Given the description of an element on the screen output the (x, y) to click on. 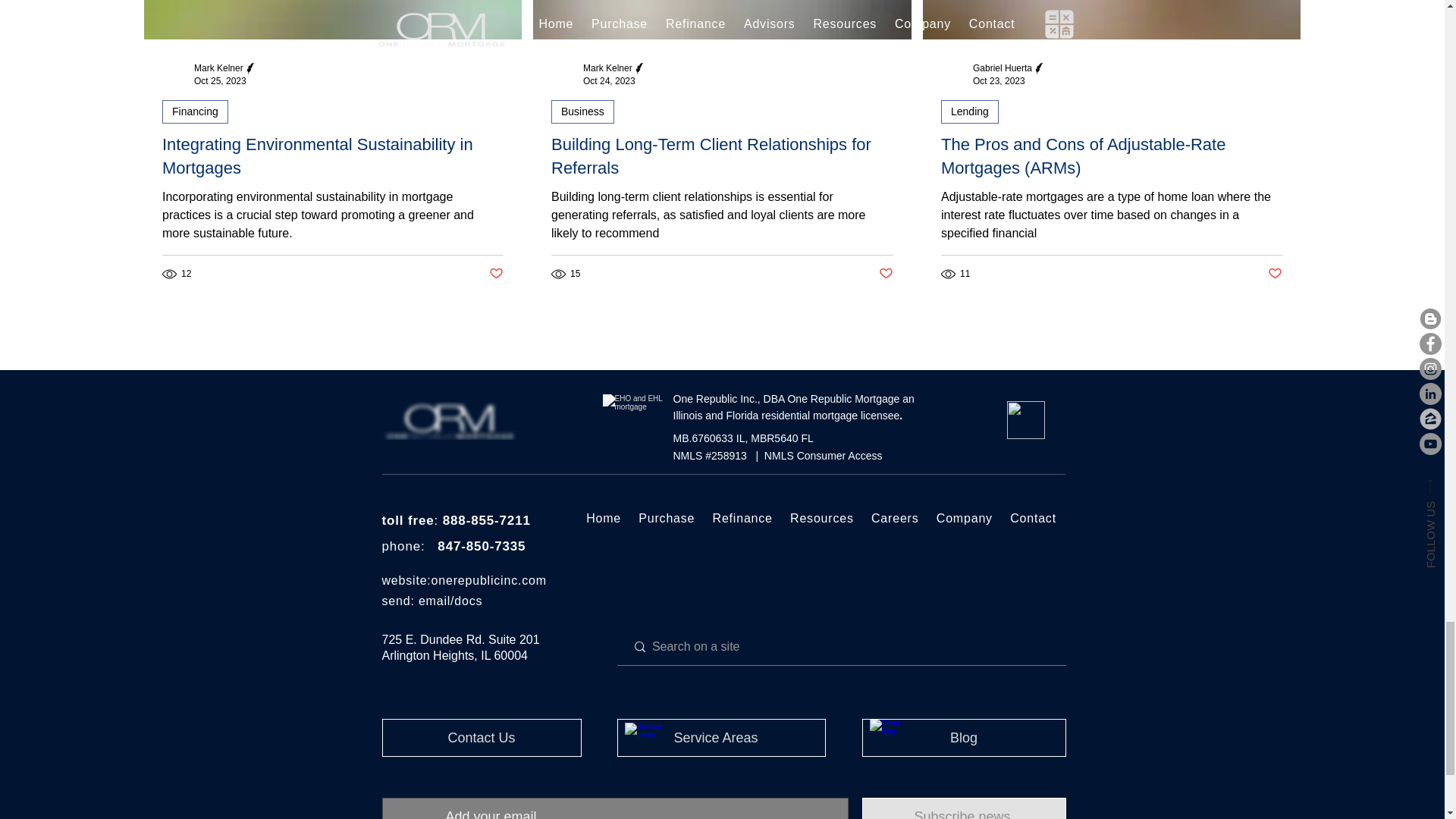
Contact Us Now! (448, 420)
Gabriel Huerta (1002, 68)
Oct 24, 2023 (608, 81)
Oct 23, 2023 (998, 81)
Mortgage calculators (1026, 419)
Mark Kelner (218, 68)
Oct 25, 2023 (219, 81)
Mark Kelner (607, 68)
